Given the description of an element on the screen output the (x, y) to click on. 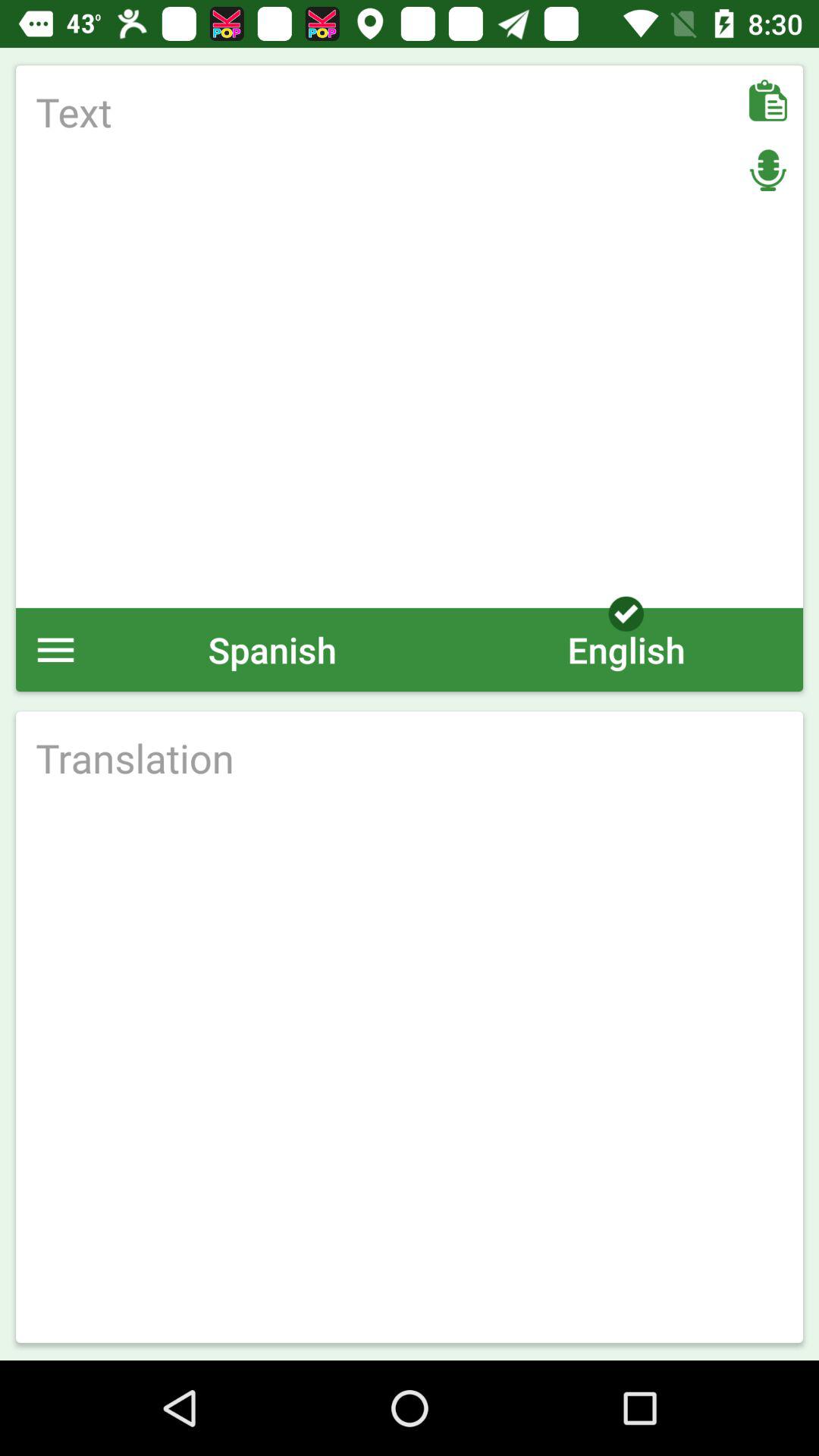
select spanish icon (272, 649)
